Given the description of an element on the screen output the (x, y) to click on. 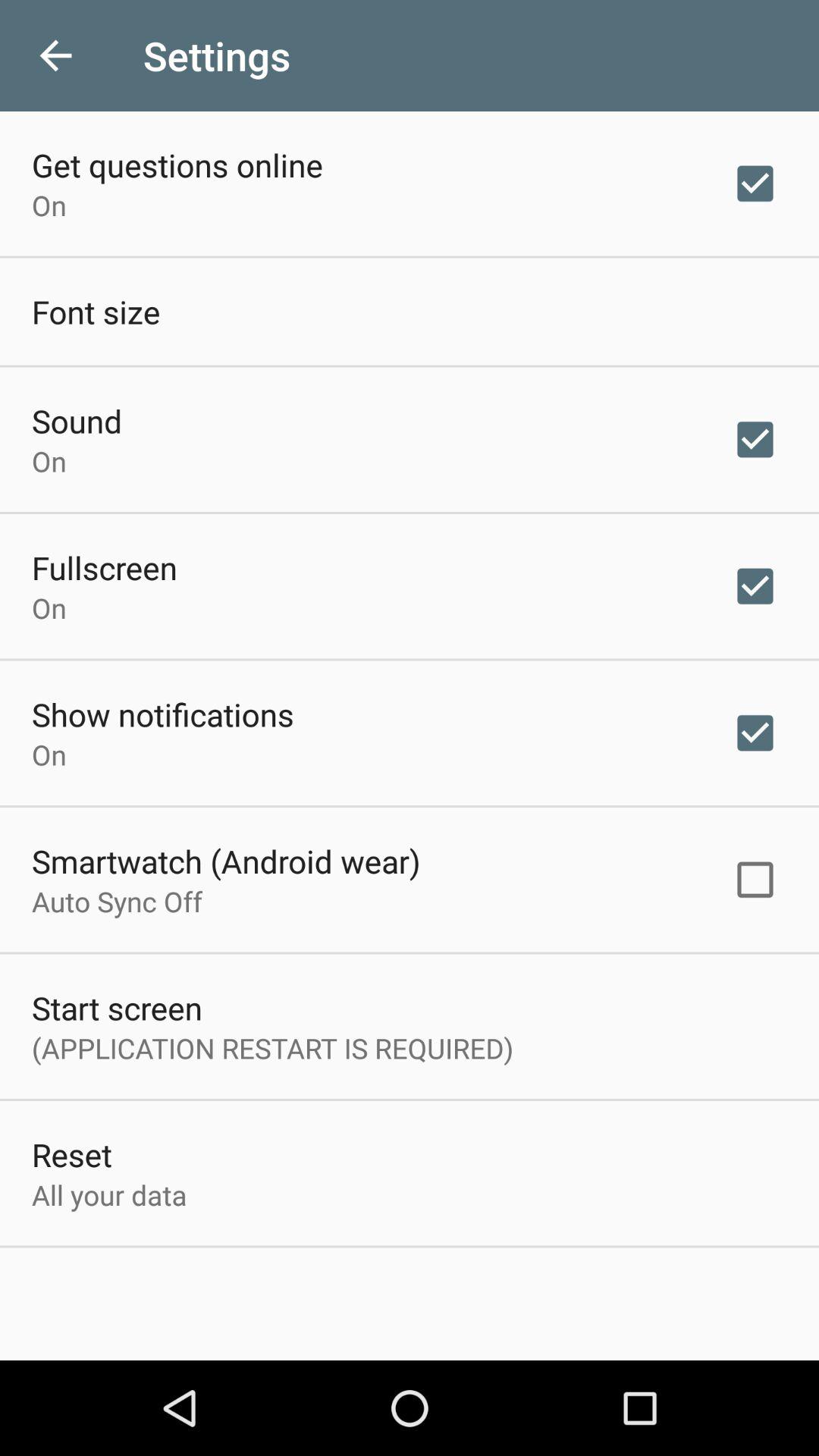
select icon below the on (225, 860)
